Given the description of an element on the screen output the (x, y) to click on. 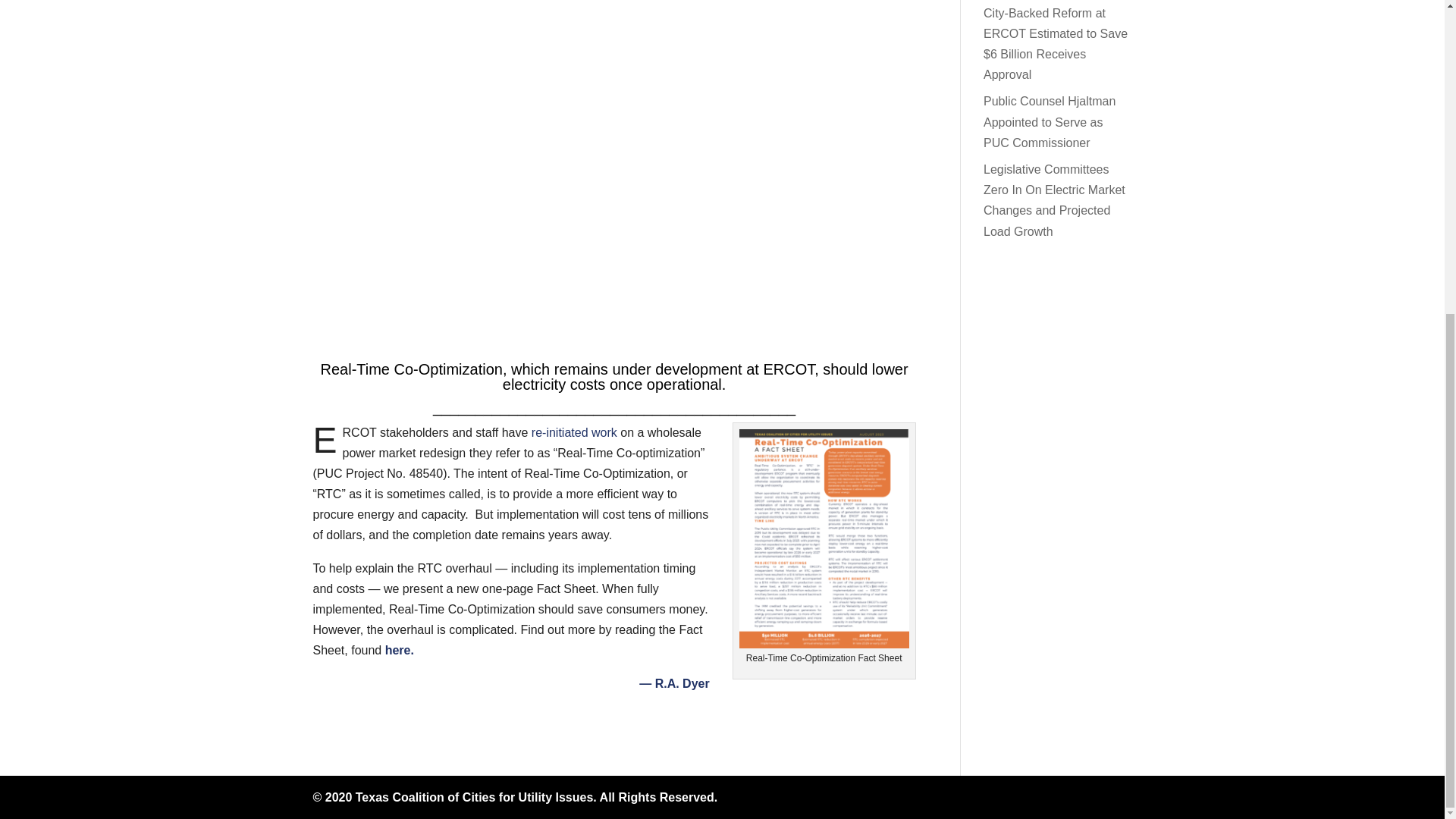
here. (399, 649)
re-initiated work (574, 431)
